Given the description of an element on the screen output the (x, y) to click on. 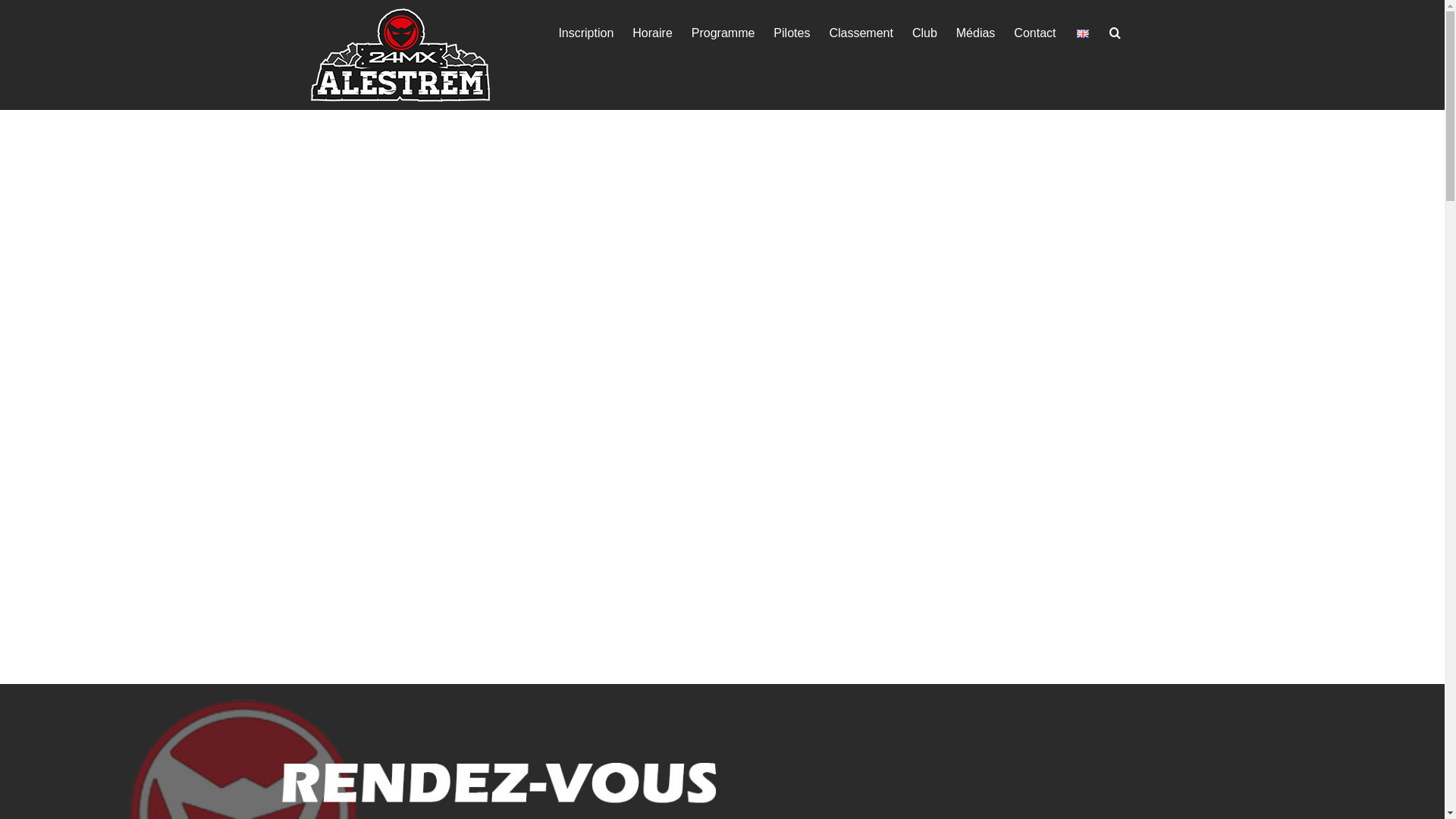
Classement Element type: text (860, 31)
English Element type: hover (1082, 33)
Club Element type: text (924, 31)
Programme Element type: text (723, 31)
Inscription Element type: text (585, 31)
Horaire Element type: text (651, 31)
Search Element type: hover (1114, 31)
Pilotes Element type: text (791, 31)
Contact Element type: text (1034, 31)
